Given the description of an element on the screen output the (x, y) to click on. 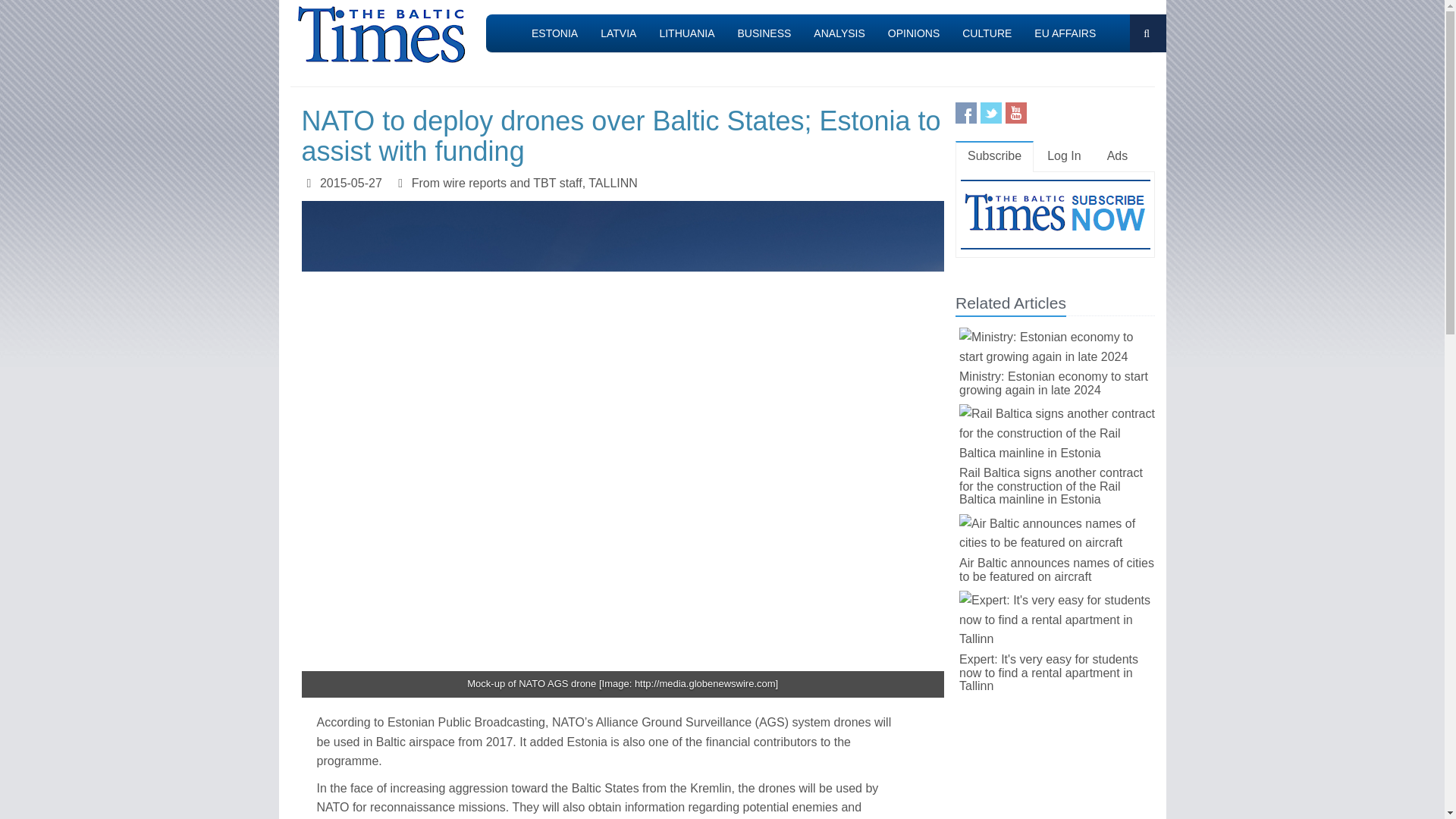
OPINIONS (913, 33)
LITHUANIA (686, 33)
CULTURE (986, 33)
ESTONIA (554, 33)
BUSINESS (764, 33)
Subscribe (994, 155)
ANALYSIS (839, 33)
LATVIA (618, 33)
